Given the description of an element on the screen output the (x, y) to click on. 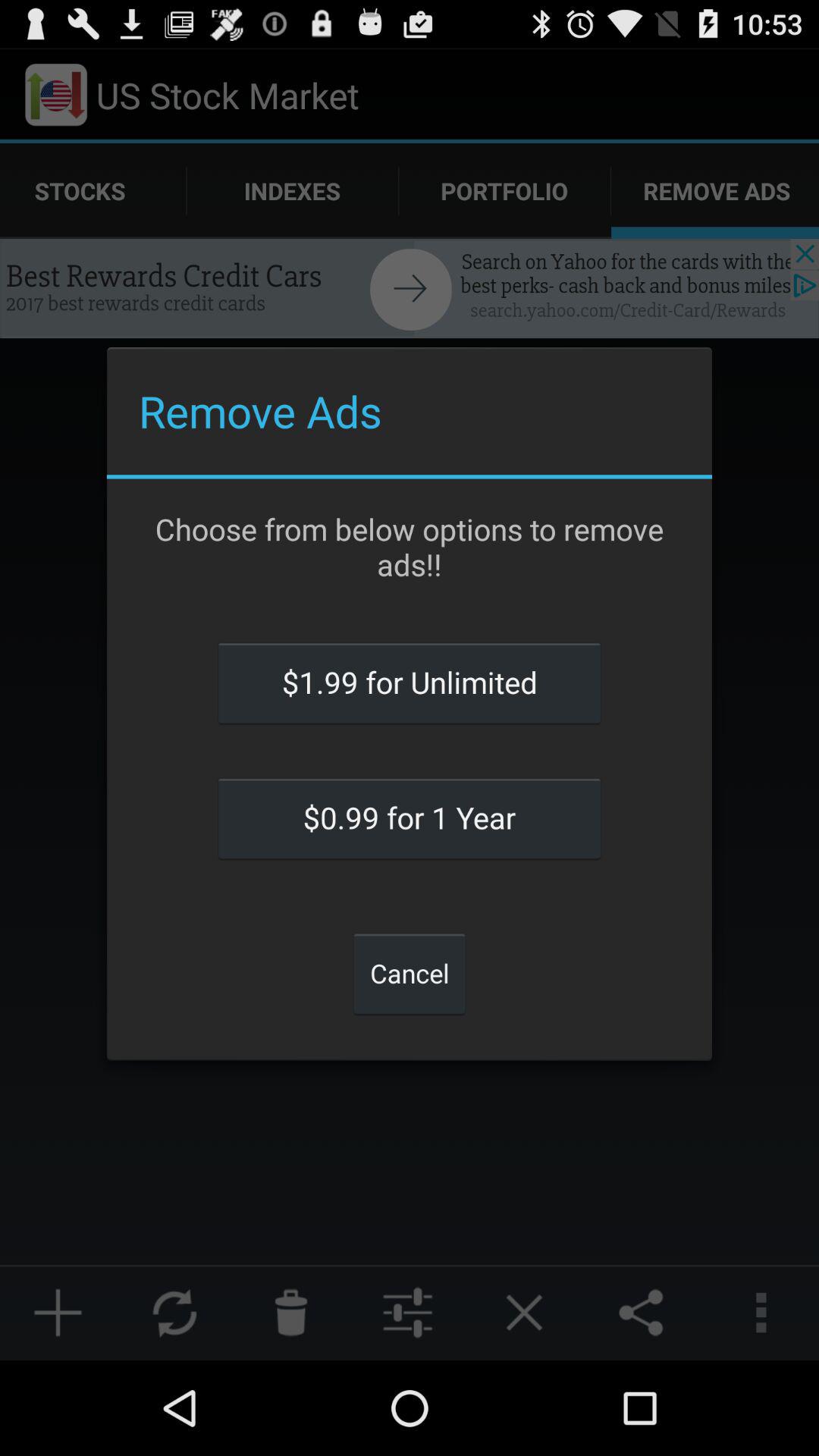
select cancel icon (409, 972)
